Given the description of an element on the screen output the (x, y) to click on. 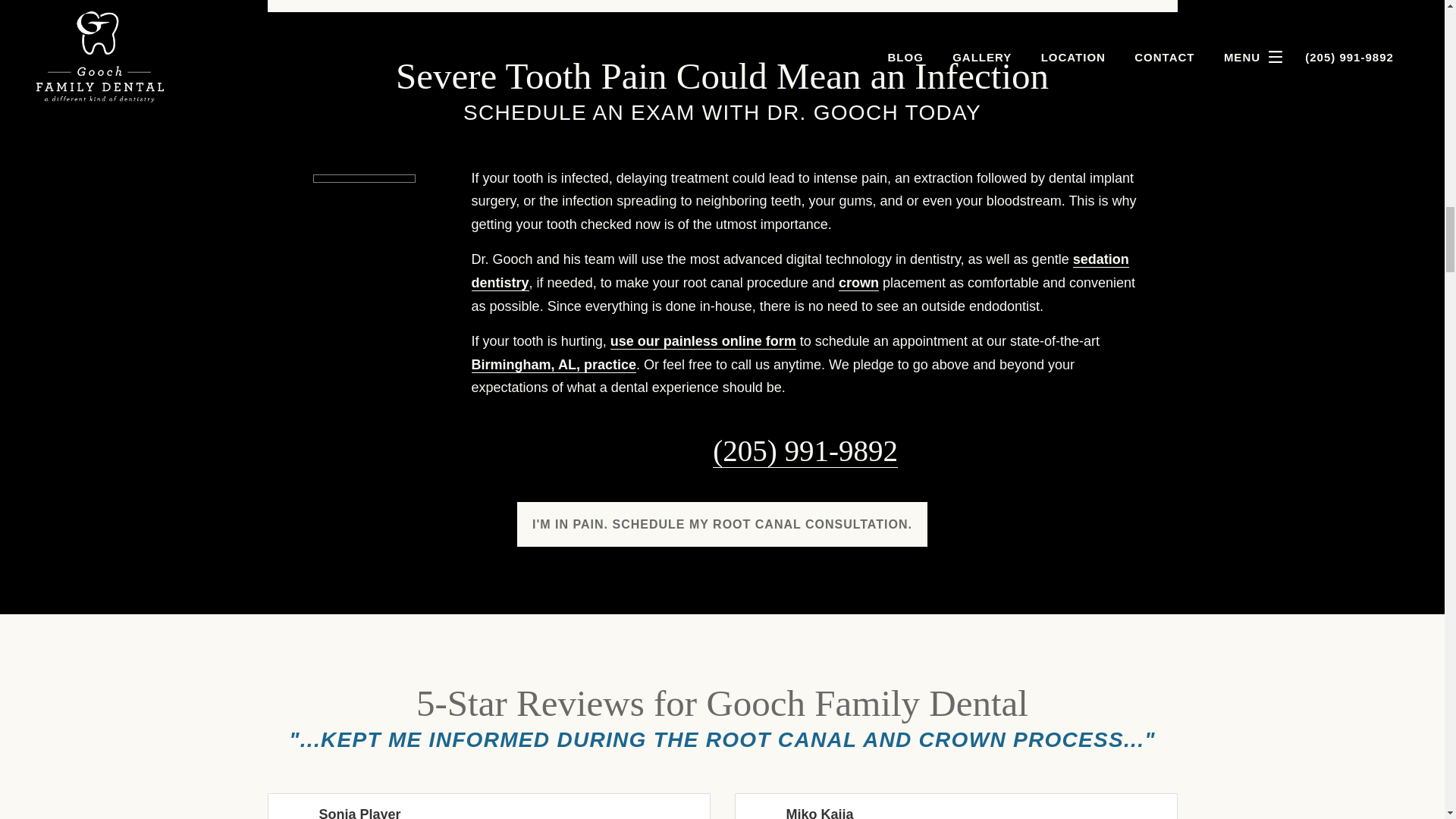
Birmingham, AL, practice (553, 365)
sedation dentistry (800, 271)
crown (858, 283)
I'M IN PAIN. SCHEDULE MY ROOT CANAL CONSULTATION. (721, 524)
use our painless online form (703, 341)
